Given the description of an element on the screen output the (x, y) to click on. 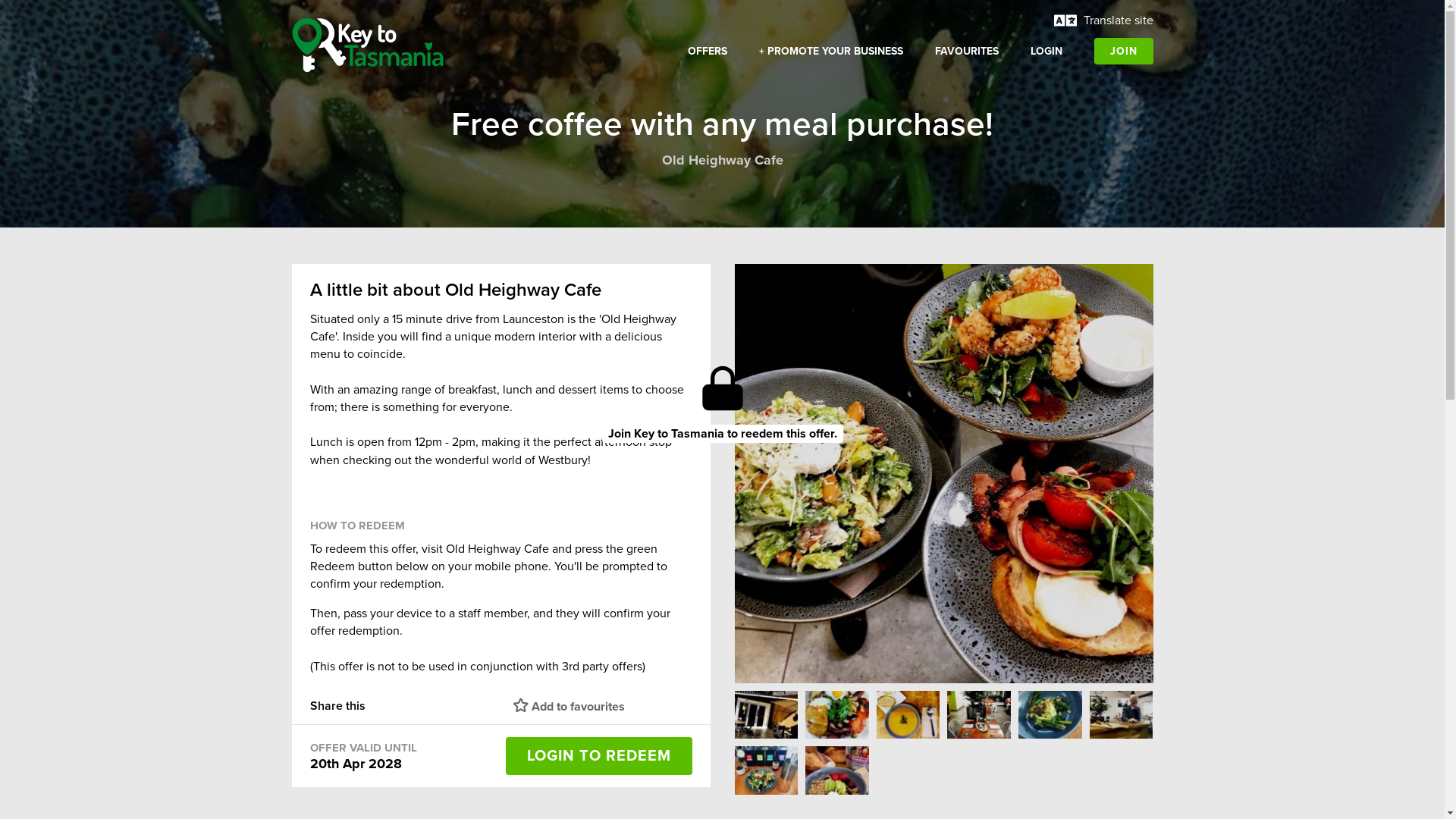
Translate site Element type: text (1103, 15)
OFFERS Element type: text (707, 50)
+ PROMOTE YOUR BUSINESS Element type: text (831, 50)
JOIN Element type: text (1122, 50)
LOGIN Element type: text (1046, 50)
LOGIN TO REDEEM Element type: text (598, 756)
FAVOURITES Element type: text (966, 50)
Join Key to Tasmania to reedem this offer. Element type: text (722, 433)
